Given the description of an element on the screen output the (x, y) to click on. 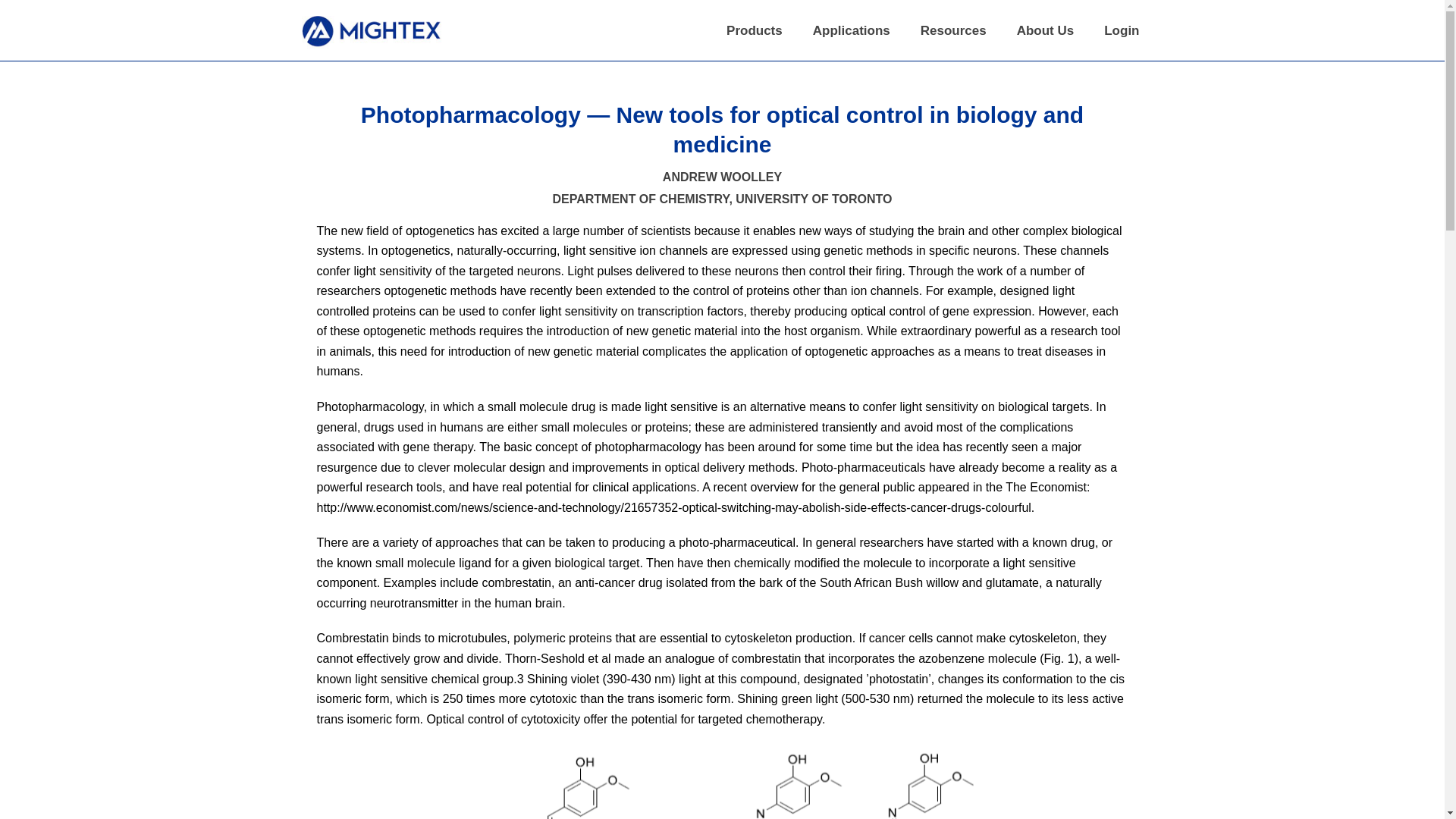
Applications (851, 31)
Login (1121, 31)
About Us (1045, 31)
Applications (851, 31)
Products (754, 31)
Mightex (371, 30)
Products (754, 31)
Resources (953, 31)
